Given the description of an element on the screen output the (x, y) to click on. 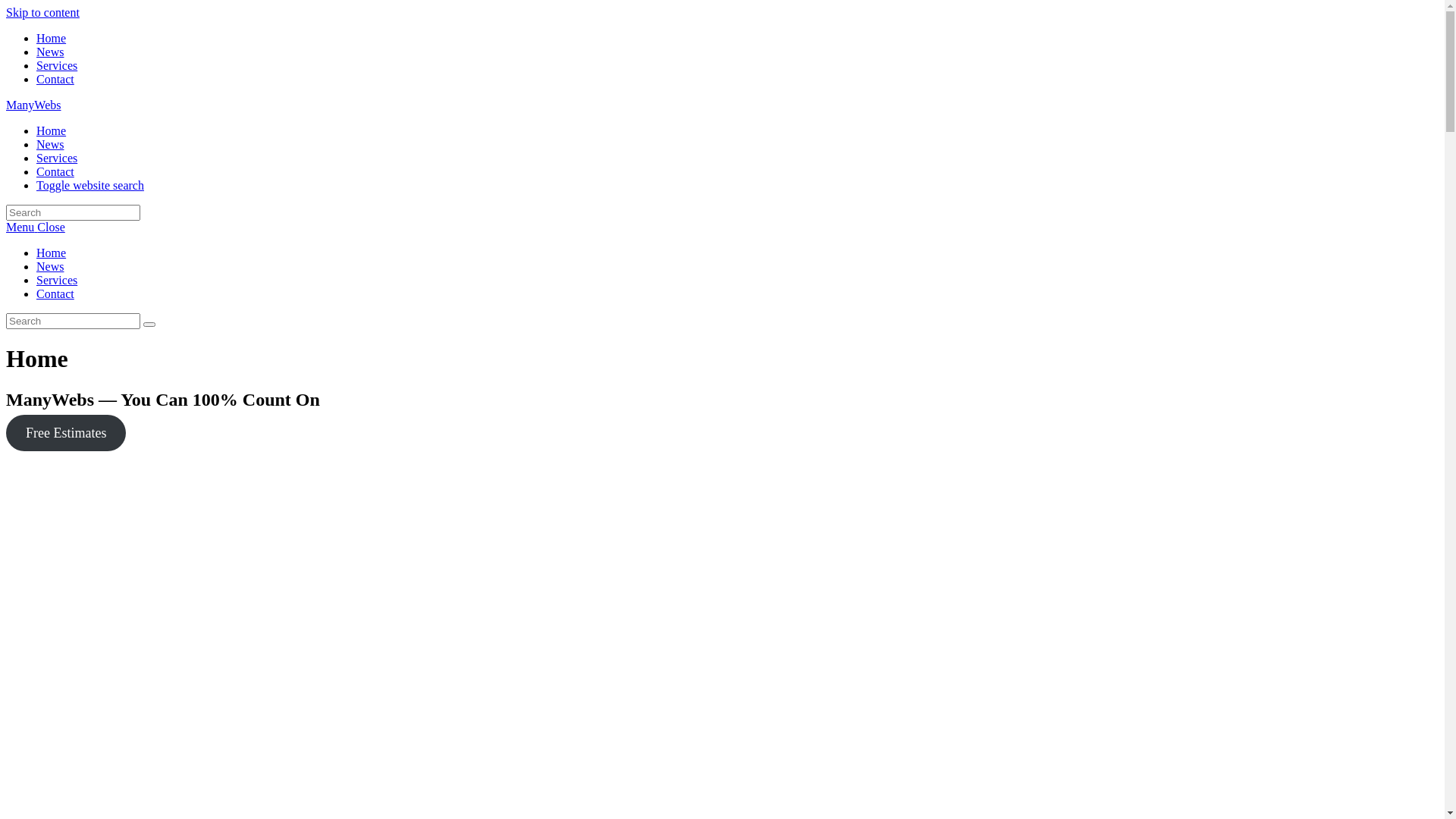
Contact Element type: text (55, 171)
Skip to content Element type: text (42, 12)
Services Element type: text (56, 157)
Contact Element type: text (55, 293)
Menu Close Element type: text (35, 226)
ManyWebs Element type: text (33, 104)
Toggle website search Element type: text (90, 184)
Home Element type: text (50, 130)
Home Element type: text (50, 37)
Services Element type: text (56, 279)
Free Estimates Element type: text (65, 432)
Services Element type: text (56, 65)
News Element type: text (49, 266)
News Element type: text (49, 144)
Contact Element type: text (55, 78)
News Element type: text (49, 51)
Home Element type: text (50, 252)
